Given the description of an element on the screen output the (x, y) to click on. 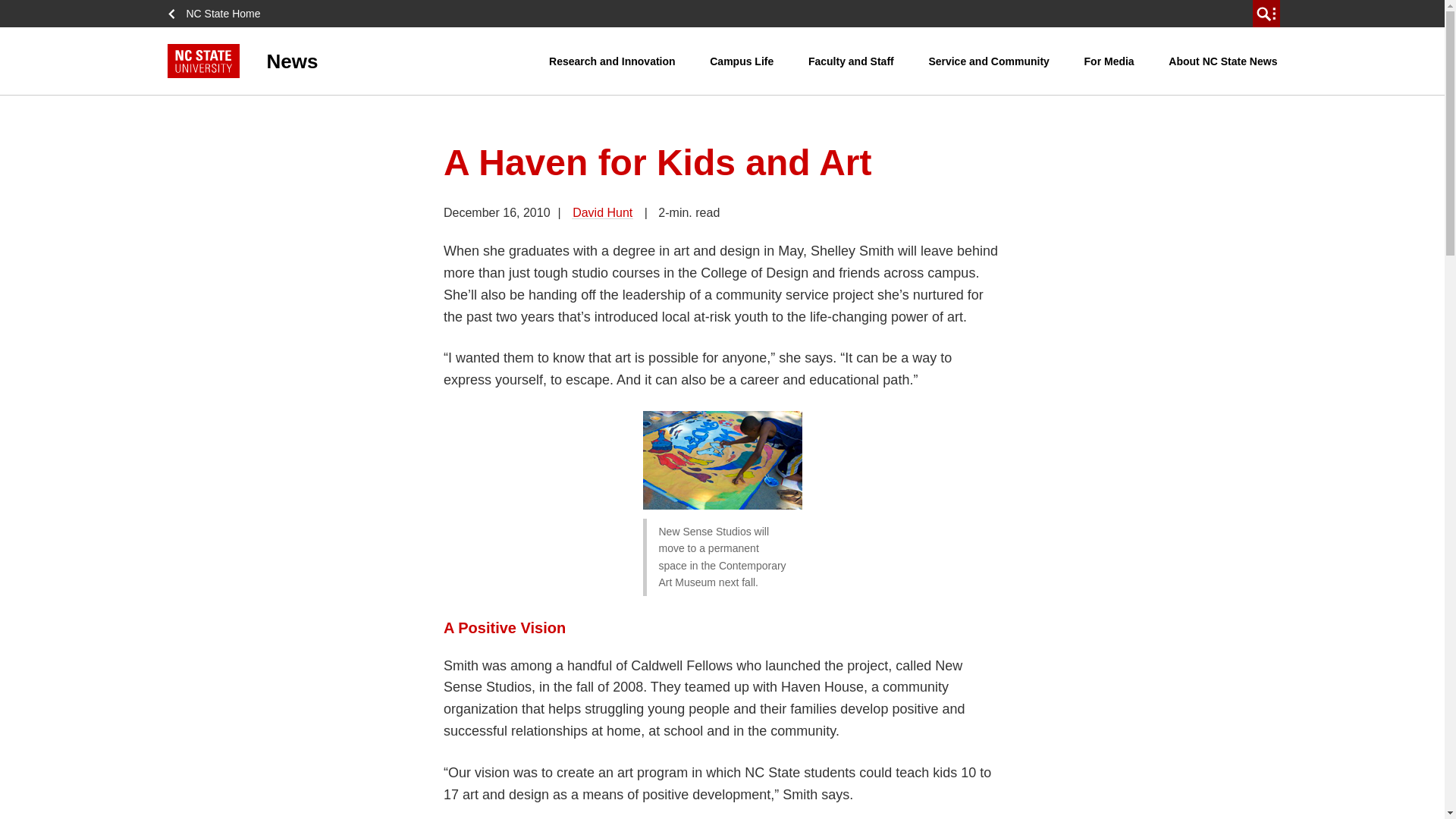
art-210 (722, 460)
Campus Life (741, 61)
News (357, 61)
NC State Home (217, 13)
Faculty and Staff (851, 61)
Service and Community (989, 61)
Posts by David Hunt (602, 212)
Research and Innovation (611, 61)
